Given the description of an element on the screen output the (x, y) to click on. 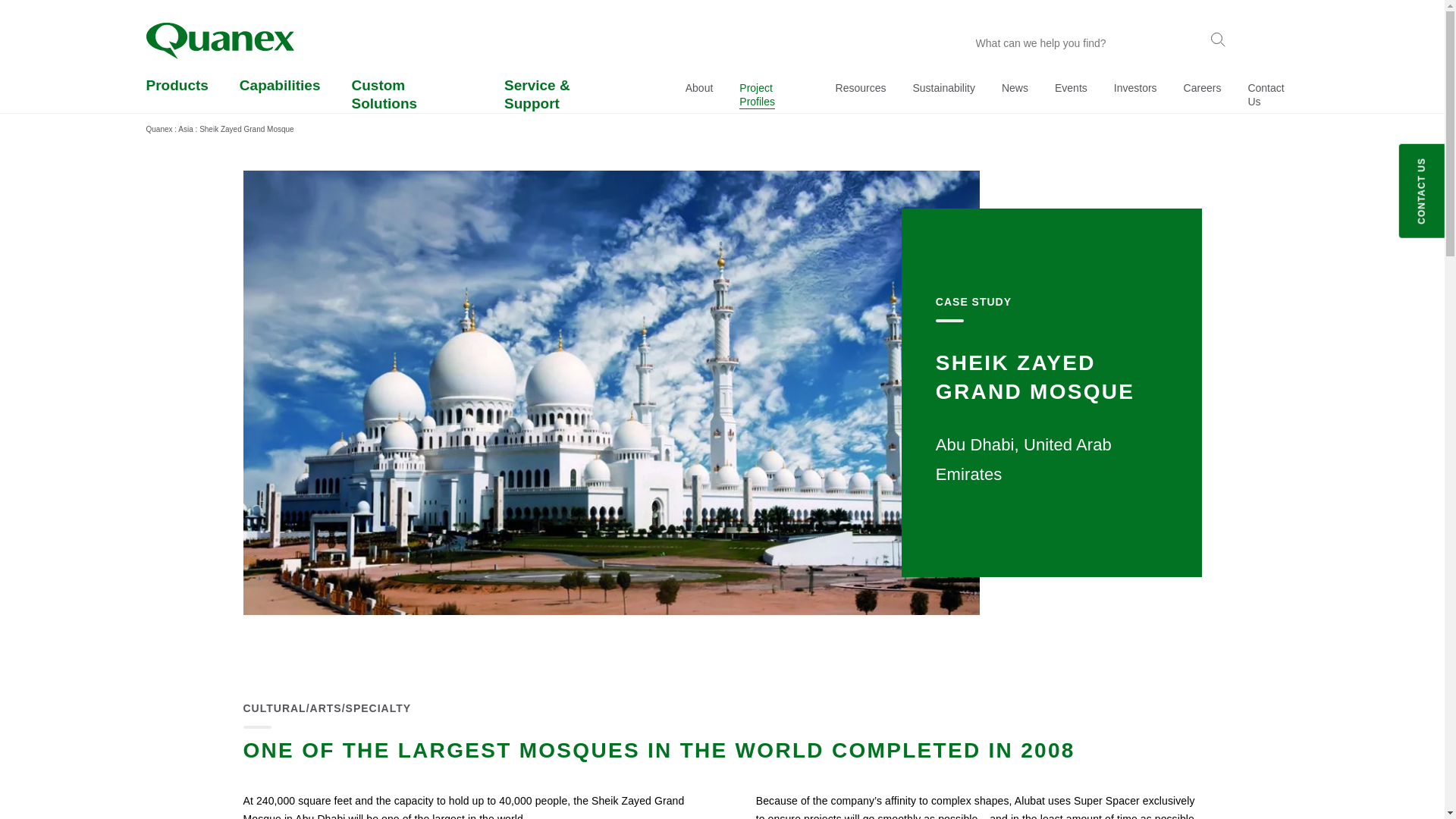
Search (1217, 40)
Go to Quanex. (158, 129)
What can we help you find? (1084, 42)
Products (176, 94)
Go to the Asia Location archives. (184, 129)
